Given the description of an element on the screen output the (x, y) to click on. 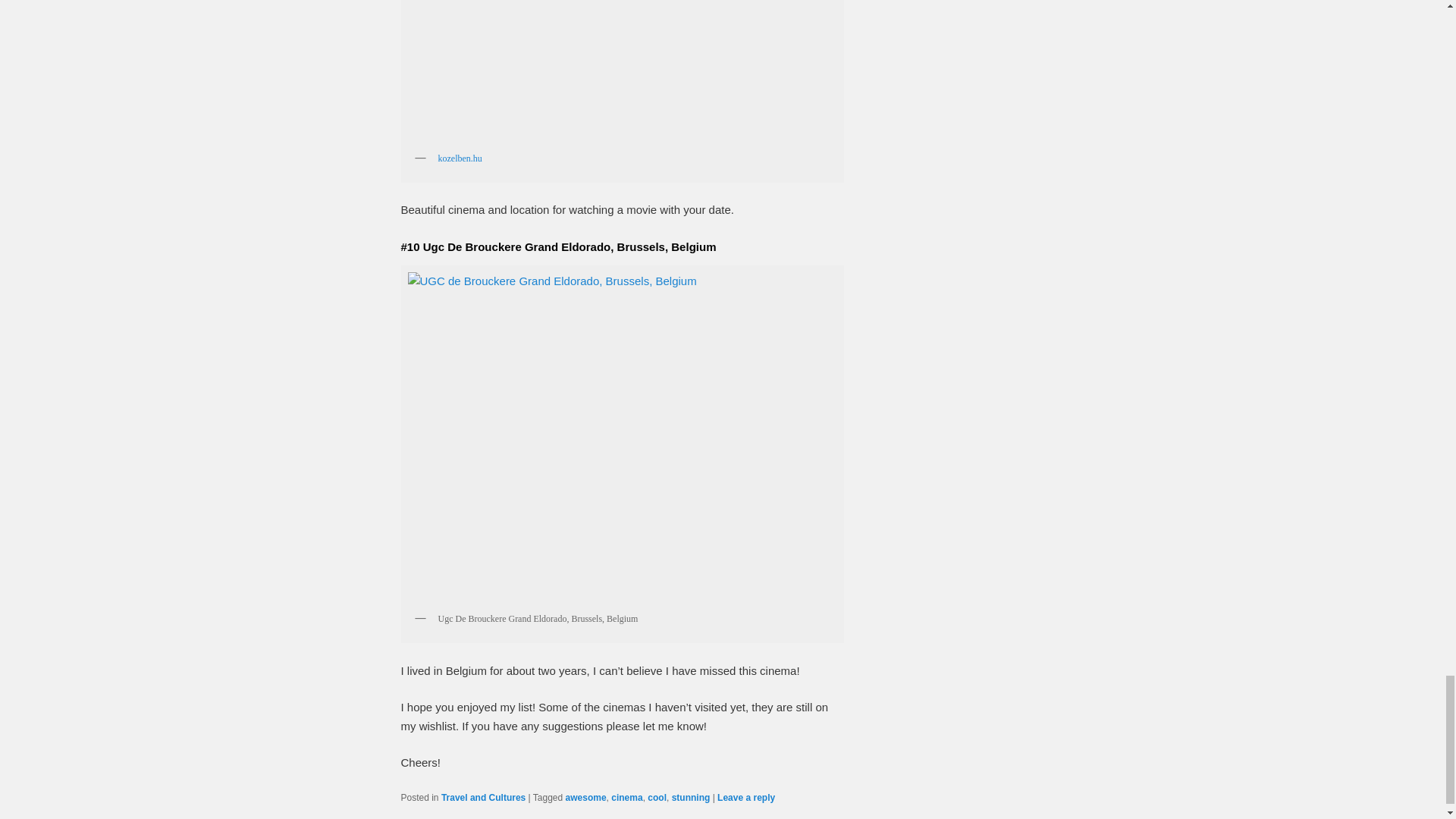
cinema (626, 797)
kozelben.hu (459, 158)
stunning (690, 797)
awesome (586, 797)
cool (656, 797)
Leave a reply (745, 797)
Travel and Cultures (483, 797)
